Given the description of an element on the screen output the (x, y) to click on. 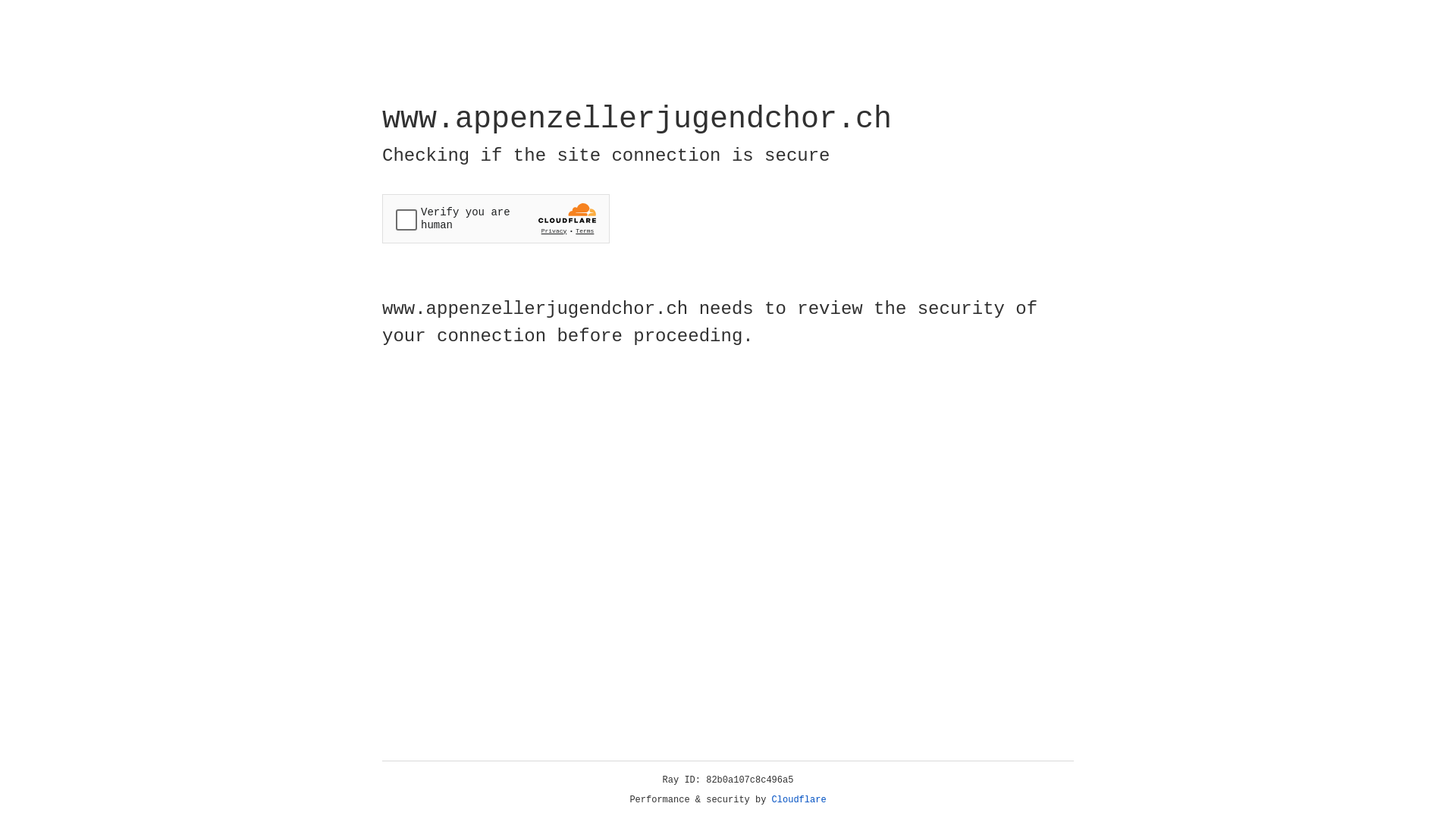
Cloudflare Element type: text (798, 799)
Widget containing a Cloudflare security challenge Element type: hover (495, 218)
